Given the description of an element on the screen output the (x, y) to click on. 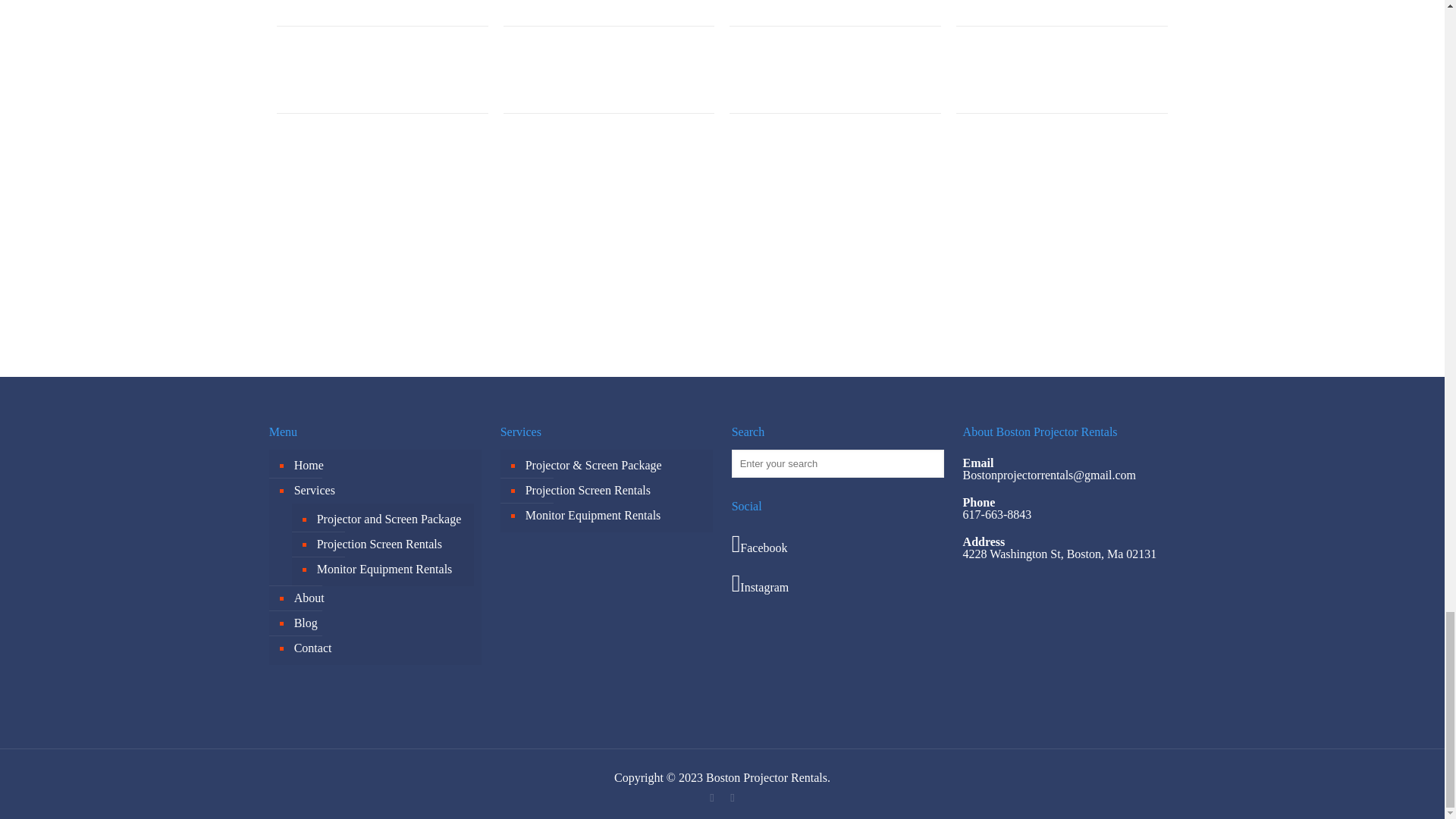
Facebook (711, 797)
Monitor Equipment Rentals (614, 515)
About (383, 598)
Visit Boston Projector Rentals on Instagram (838, 582)
Home (383, 465)
Blog (383, 623)
Instagram (731, 797)
Contact (383, 648)
Monitor Equipment Rentals (390, 569)
Projection Screen Rentals (614, 490)
Projection Screen Rentals (390, 544)
Projector and Screen Package (390, 519)
Services (383, 490)
Visit Boston Projector Rentals on Facebook (838, 543)
